Given the description of an element on the screen output the (x, y) to click on. 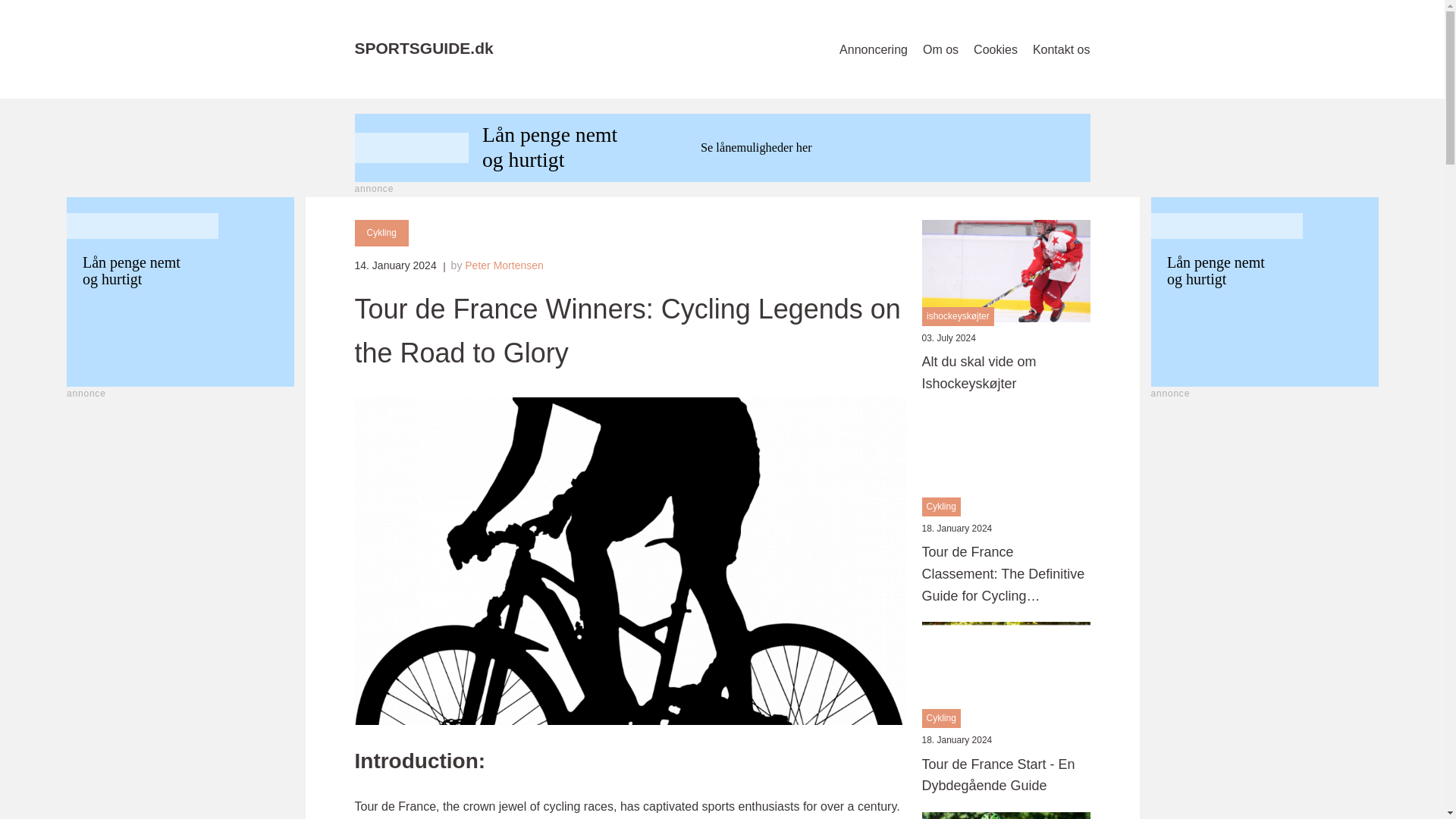
Annoncering (873, 49)
Click me! (1189, 394)
Click me! (1264, 291)
Cookies (995, 49)
Click me! (180, 291)
Cykling (382, 233)
Kontakt os (1061, 49)
Click me! (722, 147)
Click me! (392, 189)
